Given the description of an element on the screen output the (x, y) to click on. 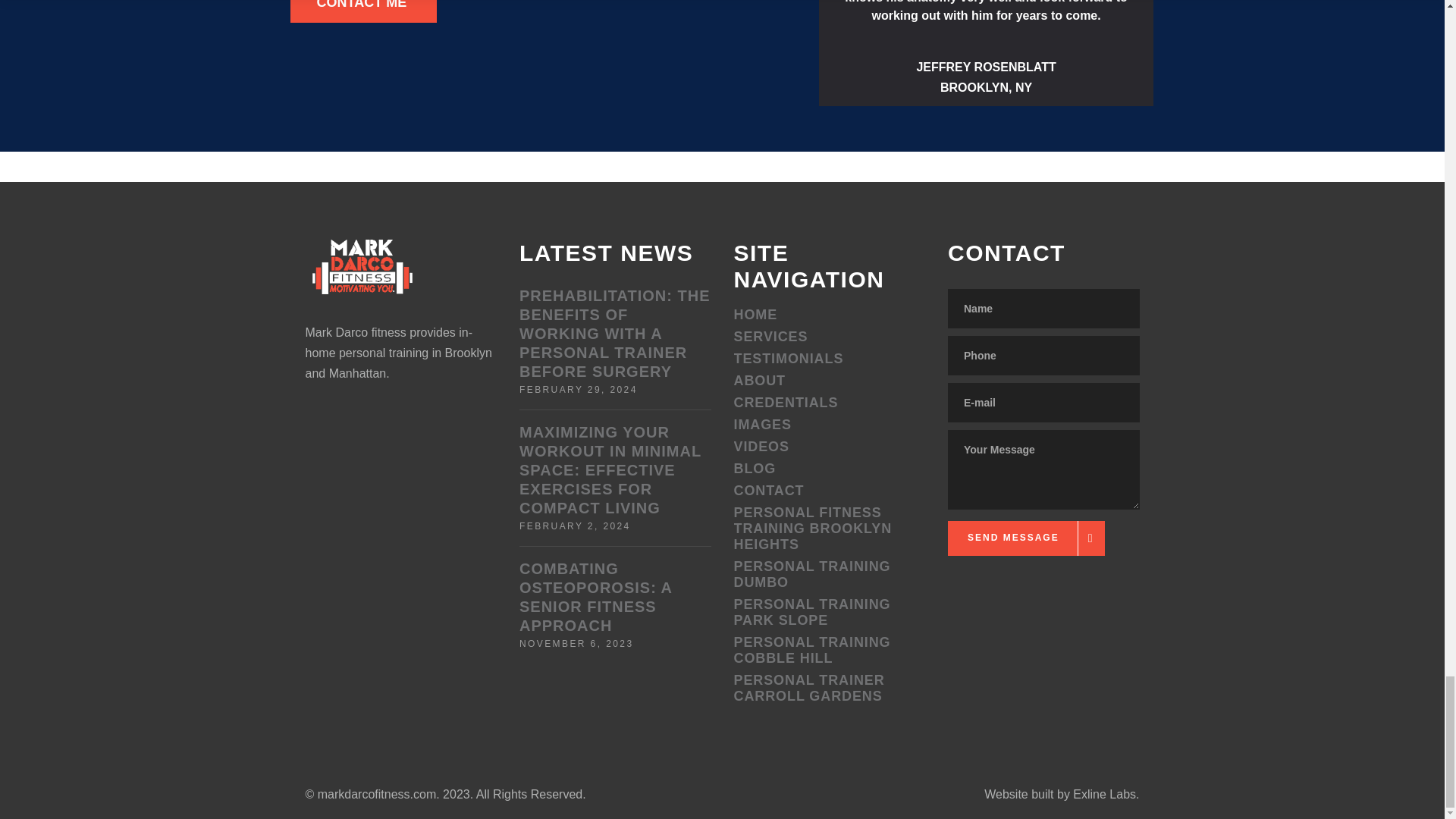
Send (1026, 541)
Combating Osteoporosis: A Senior Fitness Approach (595, 596)
